Given the description of an element on the screen output the (x, y) to click on. 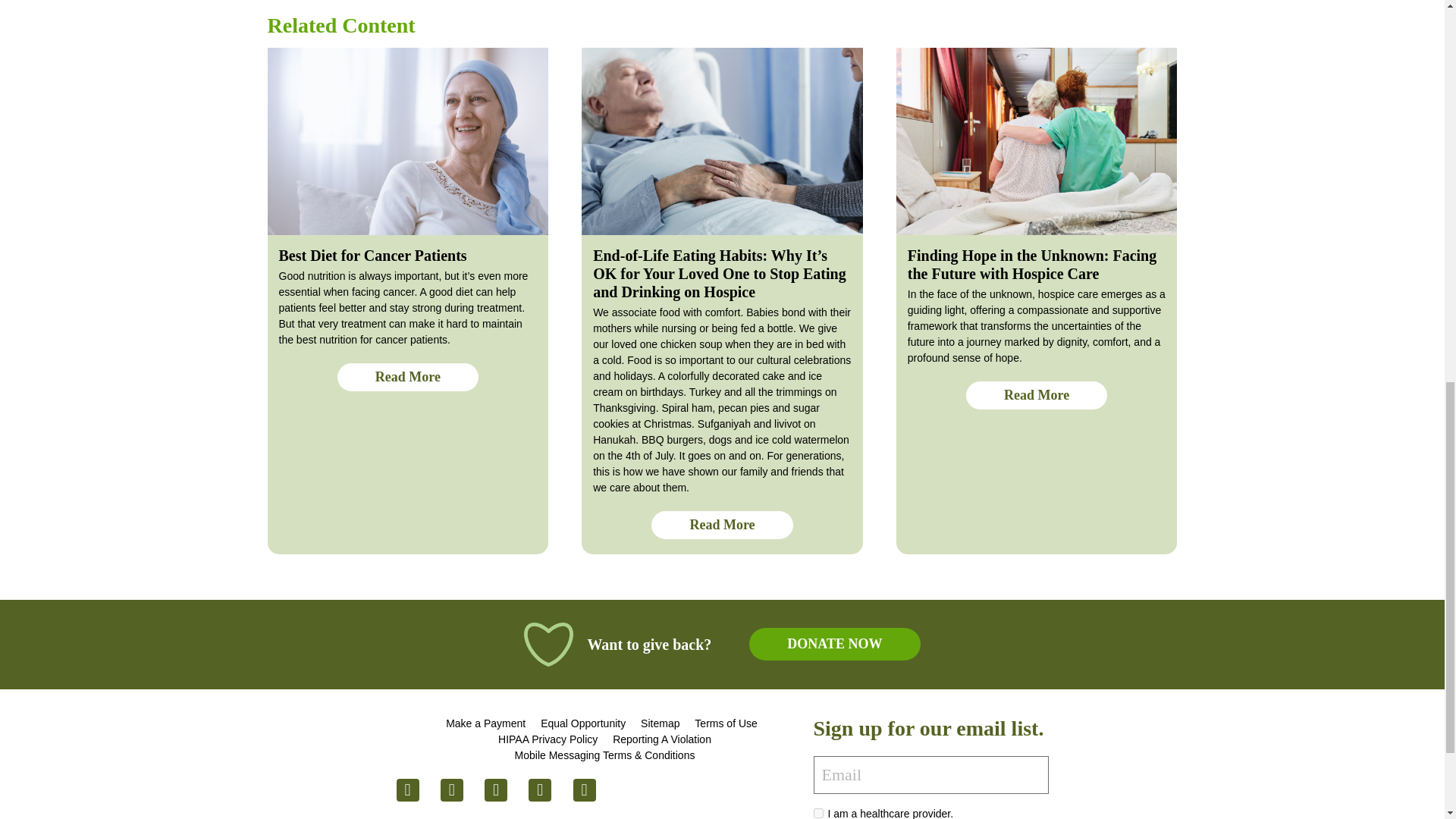
Post image (721, 141)
Post image (407, 141)
Post image (1036, 141)
true (817, 813)
